Given the description of an element on the screen output the (x, y) to click on. 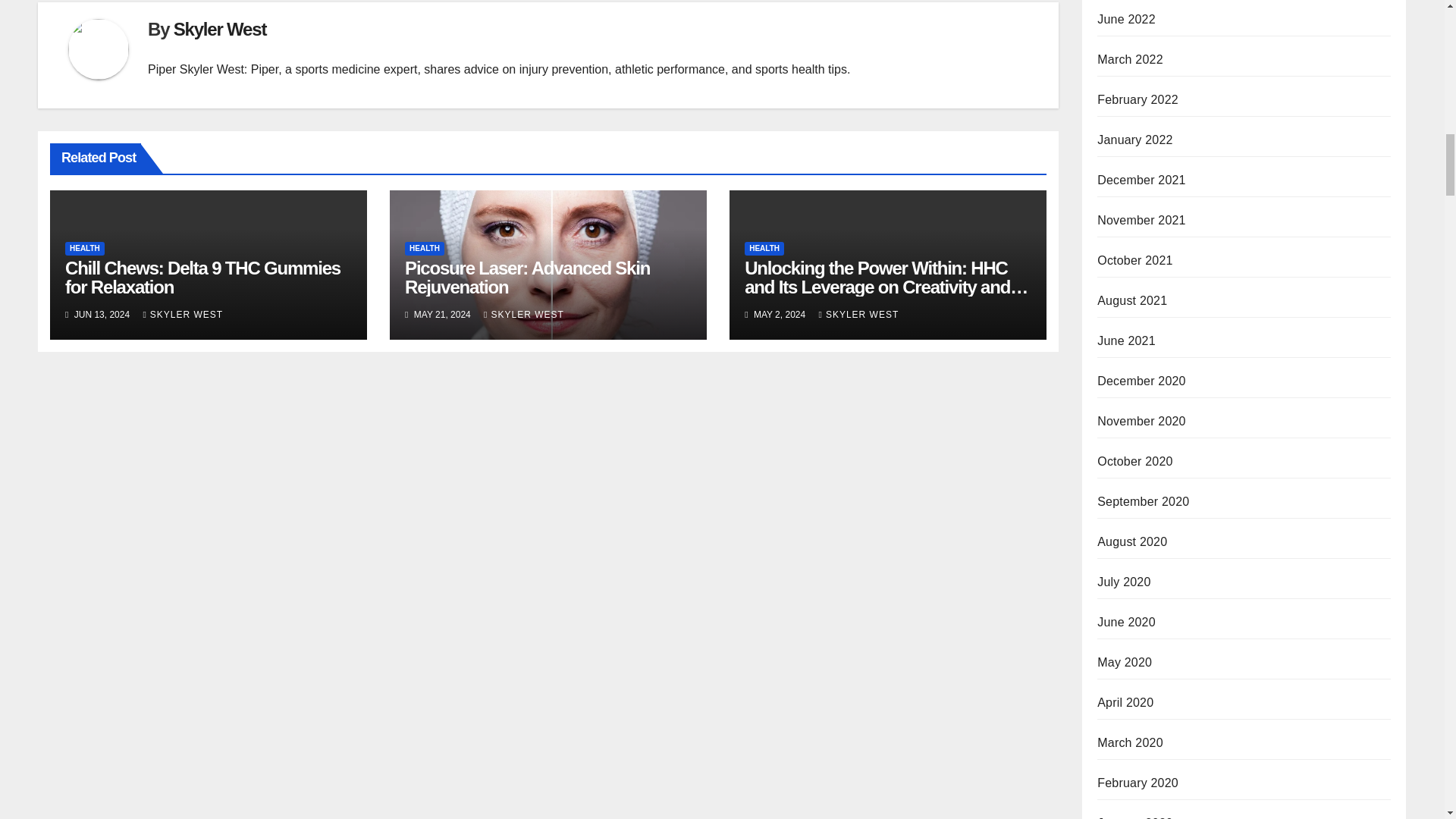
HEALTH (84, 248)
Skyler West (219, 28)
Chill Chews: Delta 9 THC Gummies for Relaxation (202, 277)
Permalink to: Picosure Laser: Advanced Skin Rejuvenation (526, 277)
